Given the description of an element on the screen output the (x, y) to click on. 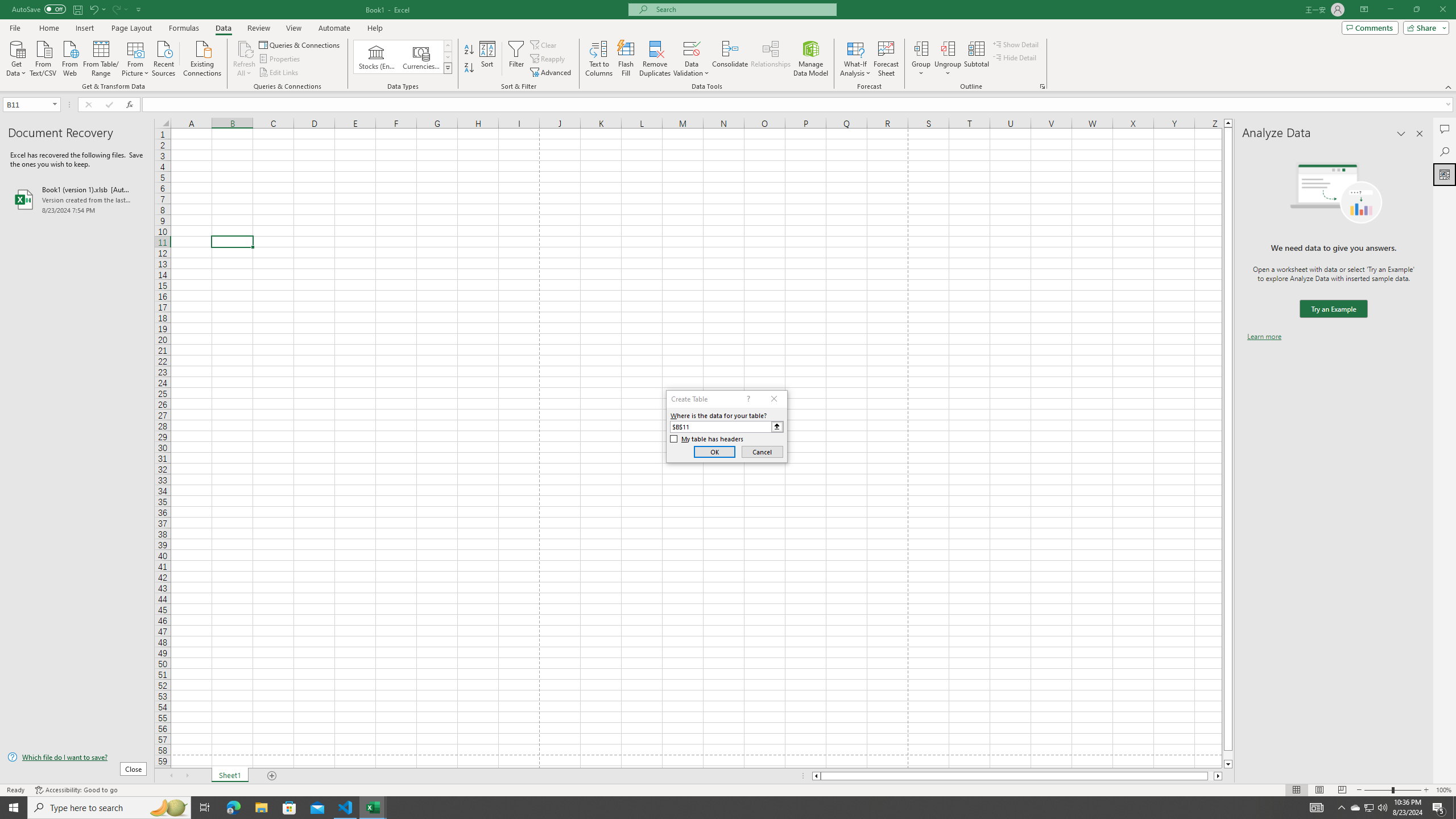
Queries & Connections (300, 44)
Sort Z to A (469, 67)
Hide Detail (1014, 56)
Forecast Sheet (885, 58)
Formula Bar (799, 104)
From Picture (135, 57)
Existing Connections (202, 57)
Reapply (548, 58)
